Given the description of an element on the screen output the (x, y) to click on. 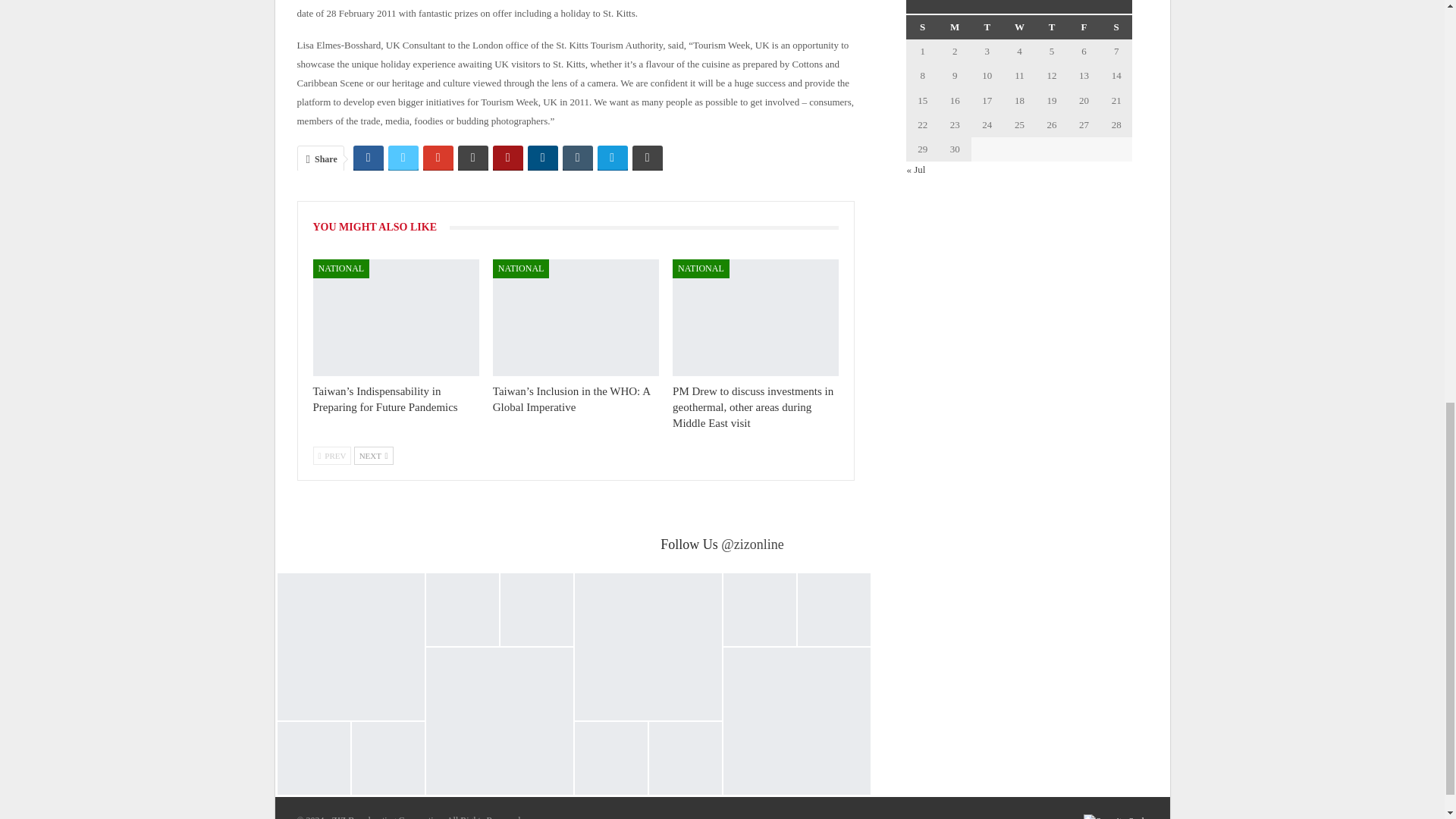
Sunday (922, 27)
Thursday (1051, 27)
Wednesday (1019, 27)
Previous (331, 455)
Next (373, 455)
Monday (955, 27)
Tuesday (987, 27)
